Given the description of an element on the screen output the (x, y) to click on. 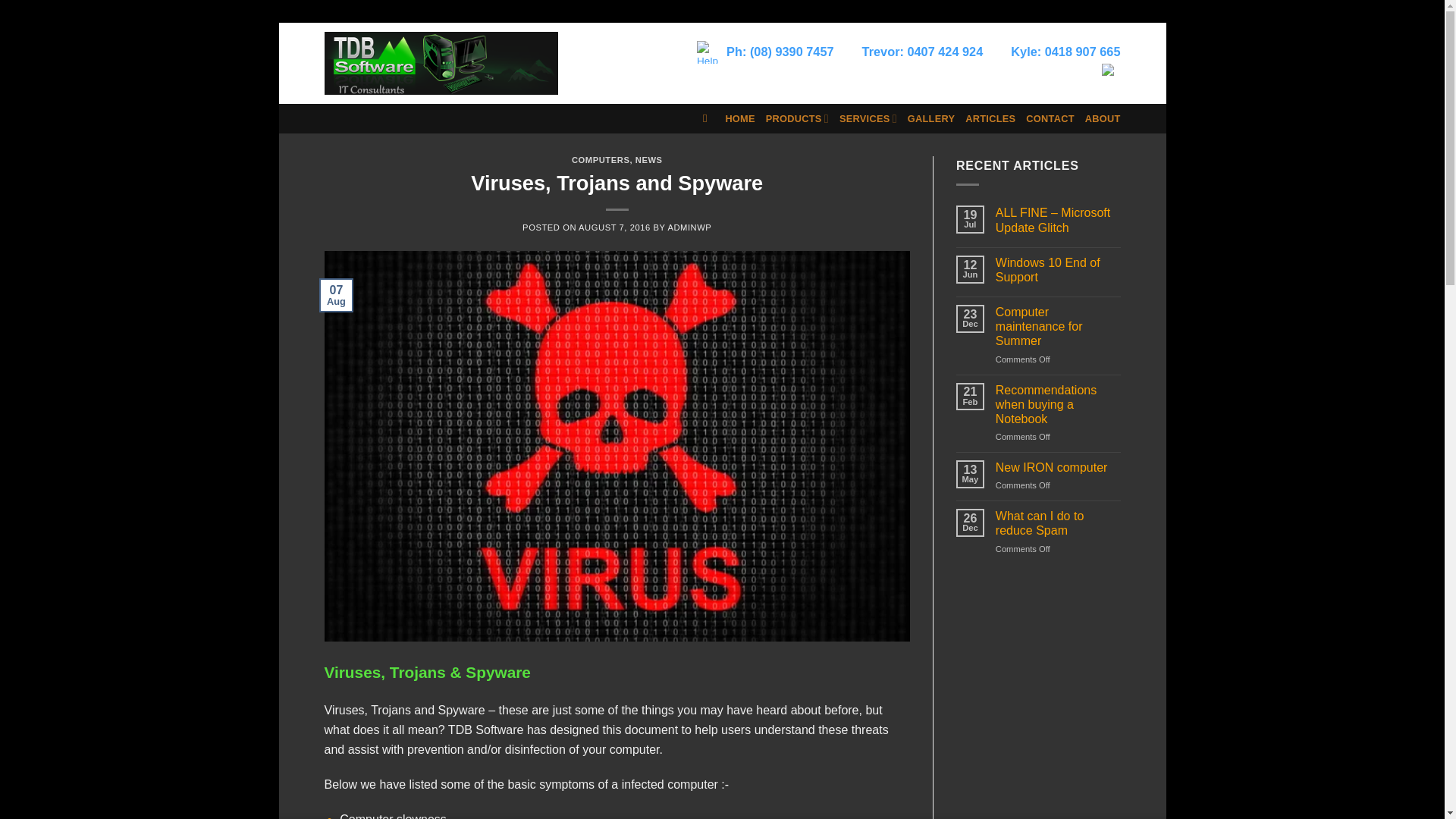
NEWS (648, 159)
PRODUCTS (796, 118)
COMPUTERS (601, 159)
ADMINWP (688, 226)
HOME (739, 118)
AUGUST 7, 2016 (614, 226)
